Given the description of an element on the screen output the (x, y) to click on. 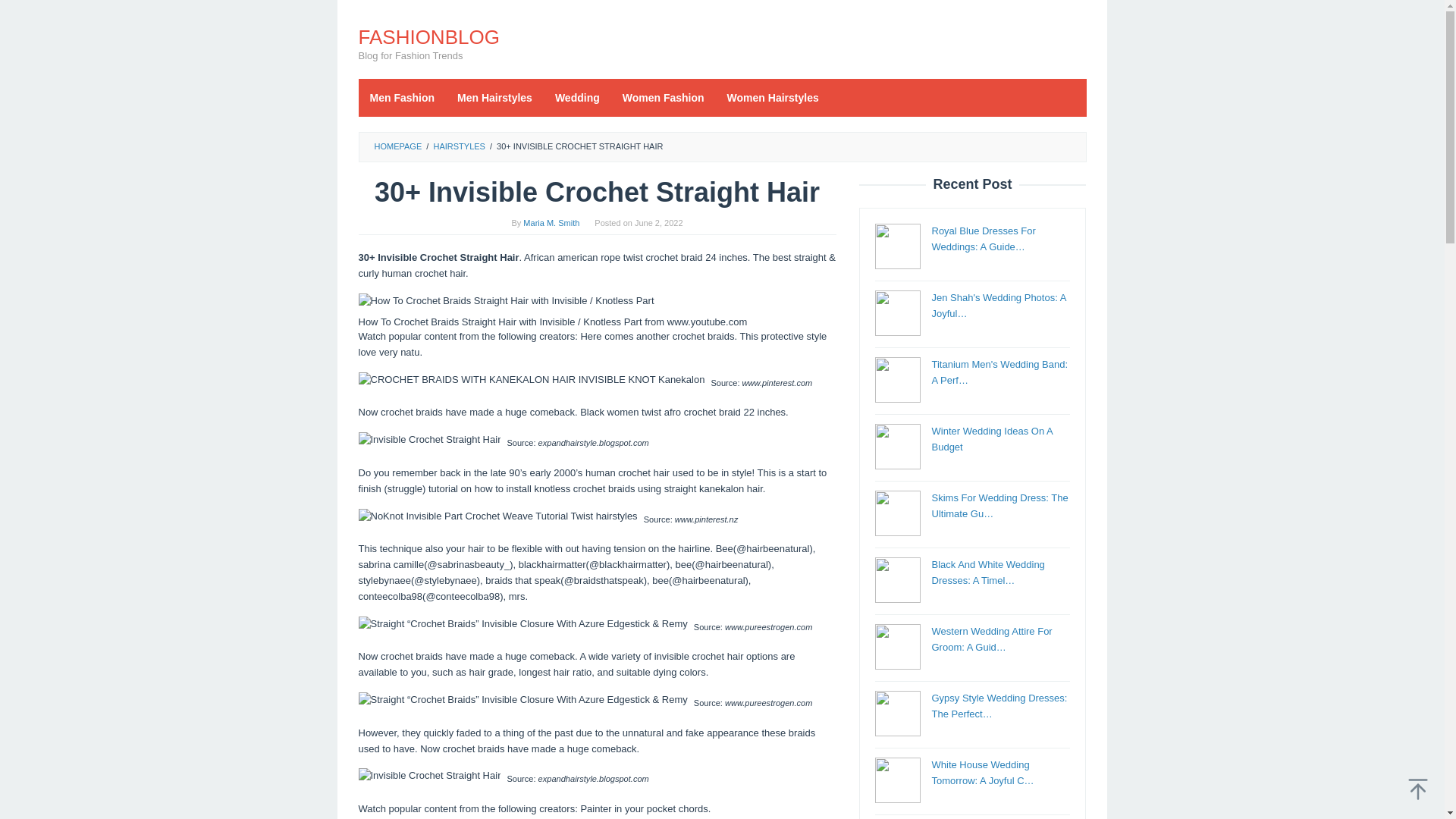
Women Fashion (663, 97)
FASHIONBLOG (428, 36)
Winter Wedding Ideas On A Budget (991, 438)
HOMEPAGE (398, 145)
Wedding (577, 97)
Men Hairstyles (494, 97)
HAIRSTYLES (458, 145)
Maria M. Smith (550, 222)
FASHIONBLOG (428, 36)
Women Hairstyles (772, 97)
Permalink to: Maria M. Smith (550, 222)
Men Fashion (401, 97)
